Given the description of an element on the screen output the (x, y) to click on. 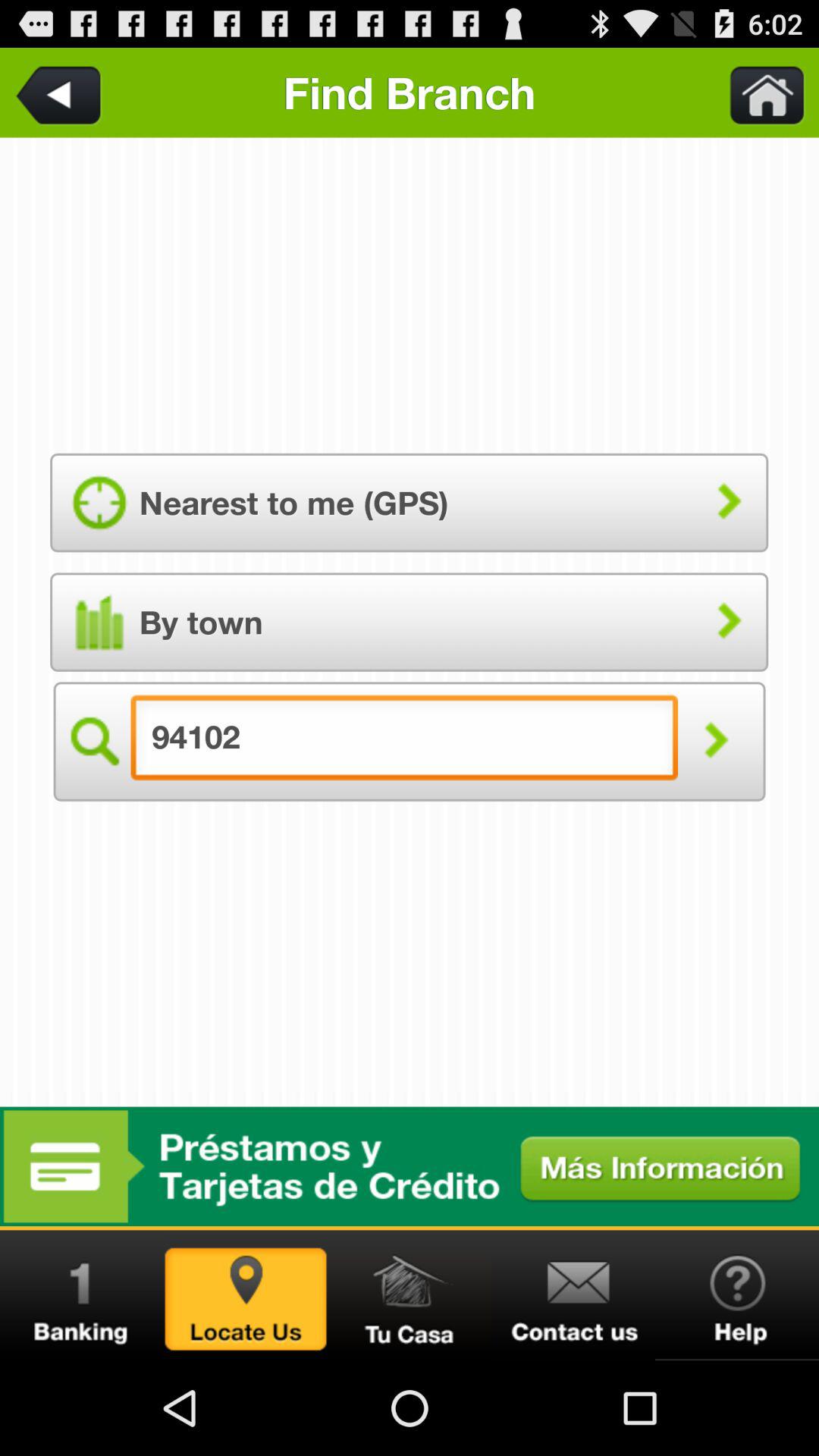
select the search icon (92, 741)
select the text in the search bar (404, 741)
tap on locate us (245, 1294)
select 94102 (409, 1294)
